Given the description of an element on the screen output the (x, y) to click on. 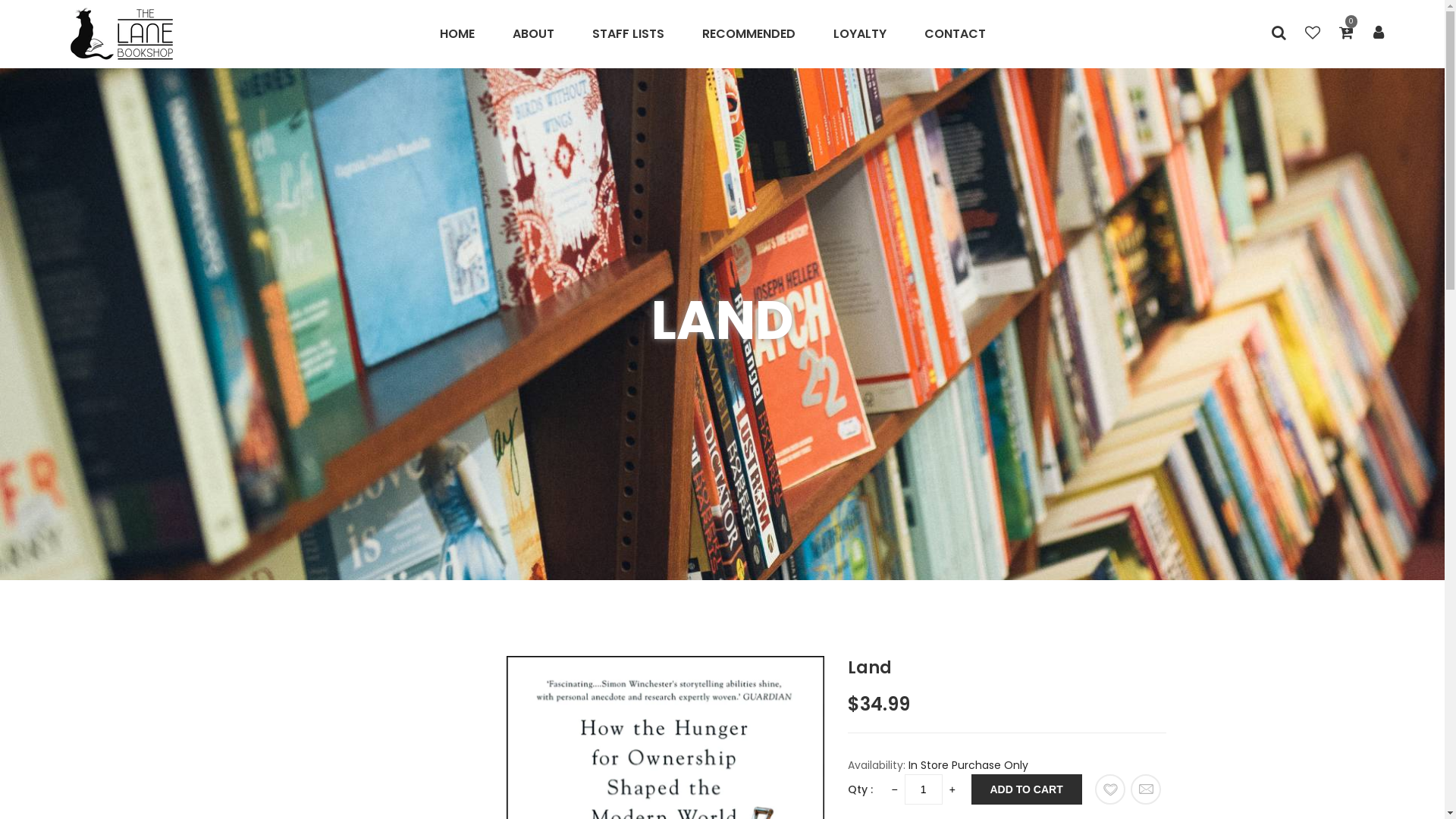
LOYALTY Element type: text (859, 34)
STAFF LISTS Element type: text (628, 34)
ABOUT Element type: text (533, 34)
HOME Element type: text (466, 34)
0 Element type: text (1346, 34)
Wishlist Element type: hover (1110, 789)
CONTACT Element type: text (954, 34)
ADD TO CART Element type: text (1025, 789)
+ Element type: text (952, 789)
RECOMMENDED Element type: text (748, 34)
